Given the description of an element on the screen output the (x, y) to click on. 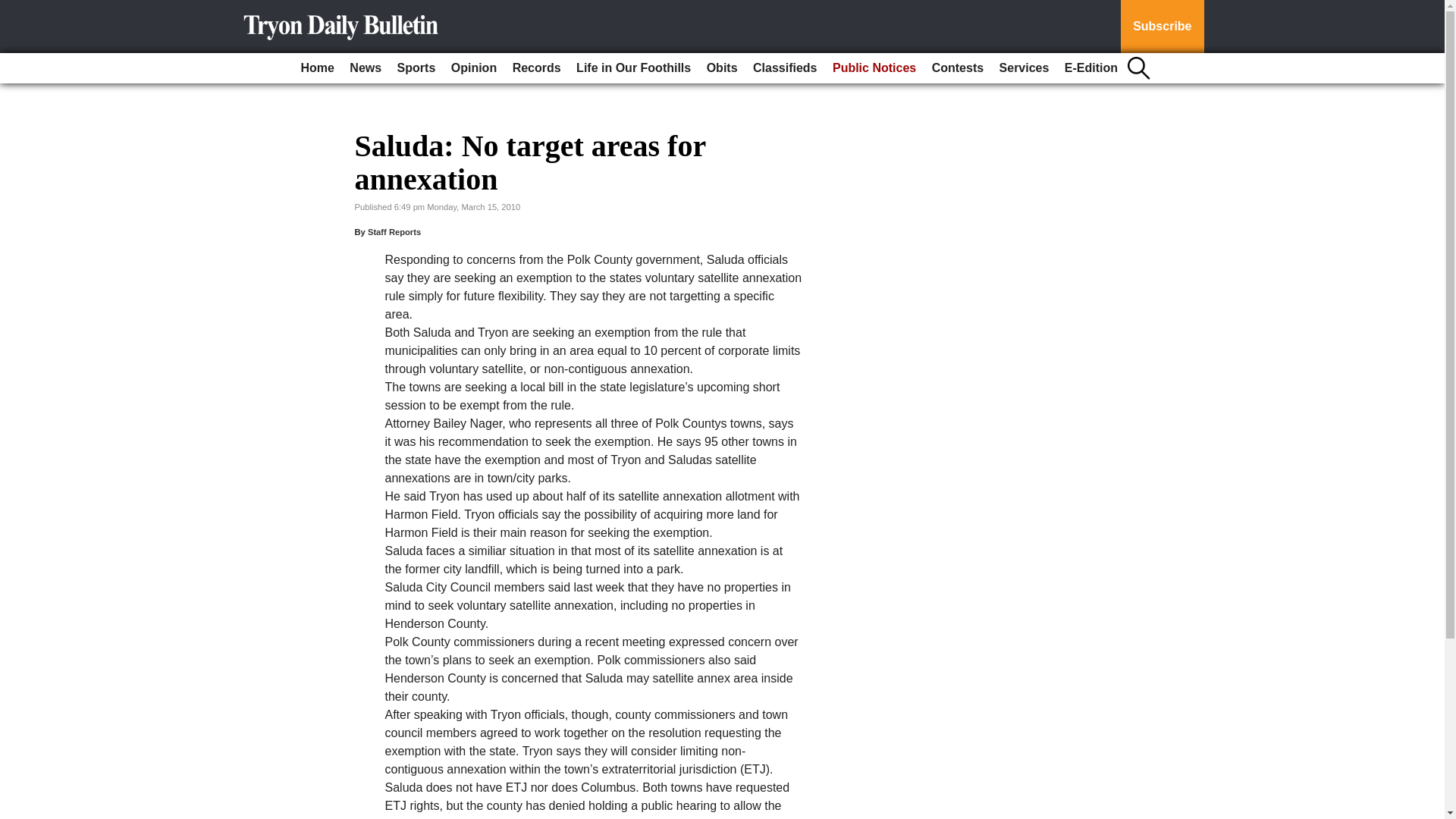
Obits (722, 68)
Staff Reports (394, 231)
E-Edition (1091, 68)
Opinion (473, 68)
Records (536, 68)
Public Notices (874, 68)
Contests (958, 68)
Subscribe (1162, 26)
Life in Our Foothills (633, 68)
Home (316, 68)
